Given the description of an element on the screen output the (x, y) to click on. 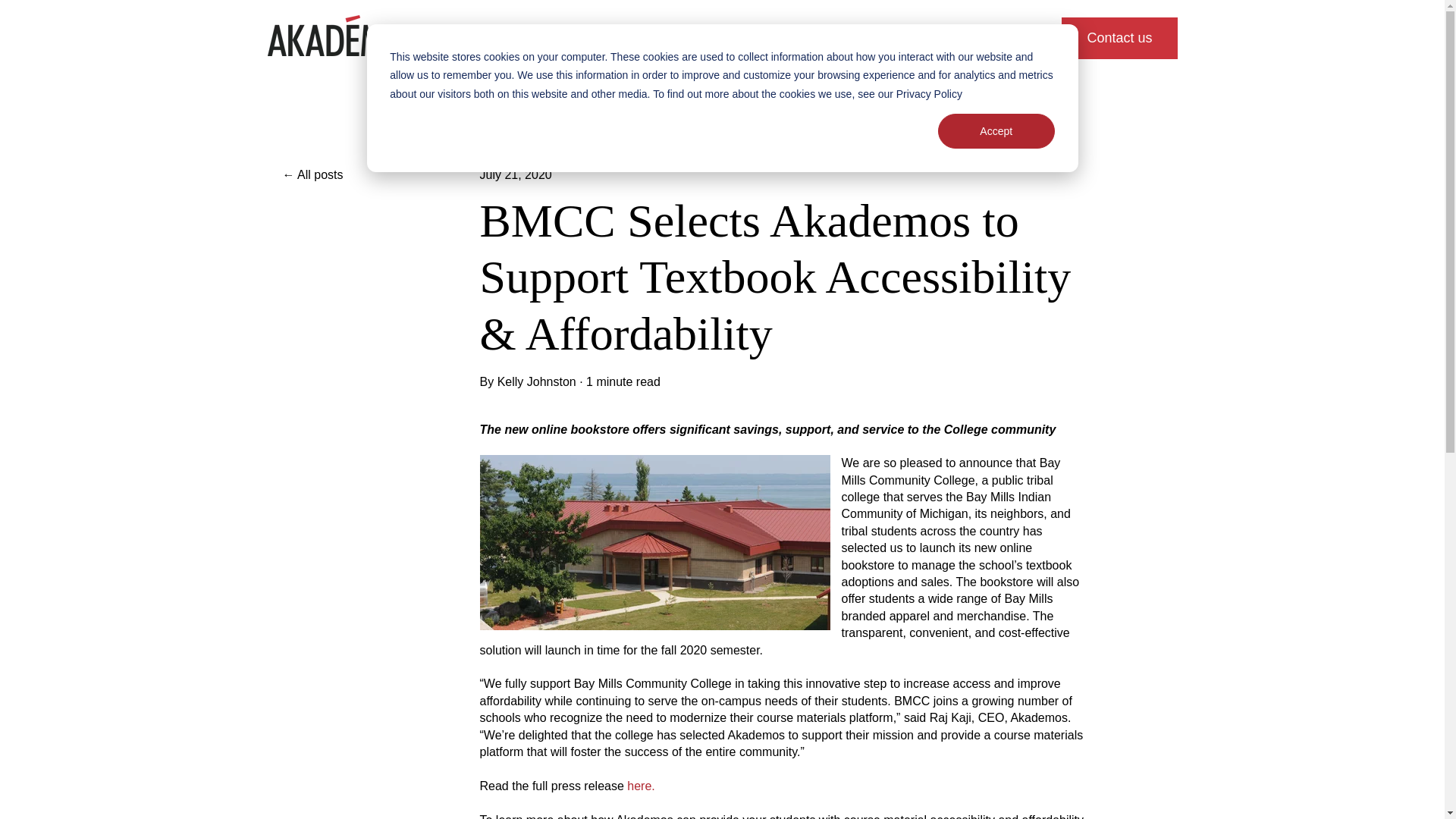
Kelly Johnston (536, 381)
here. (640, 785)
Blog (1024, 37)
Equitable Access (939, 37)
About Us (840, 37)
Contact us (1118, 37)
All posts (380, 175)
